Given the description of an element on the screen output the (x, y) to click on. 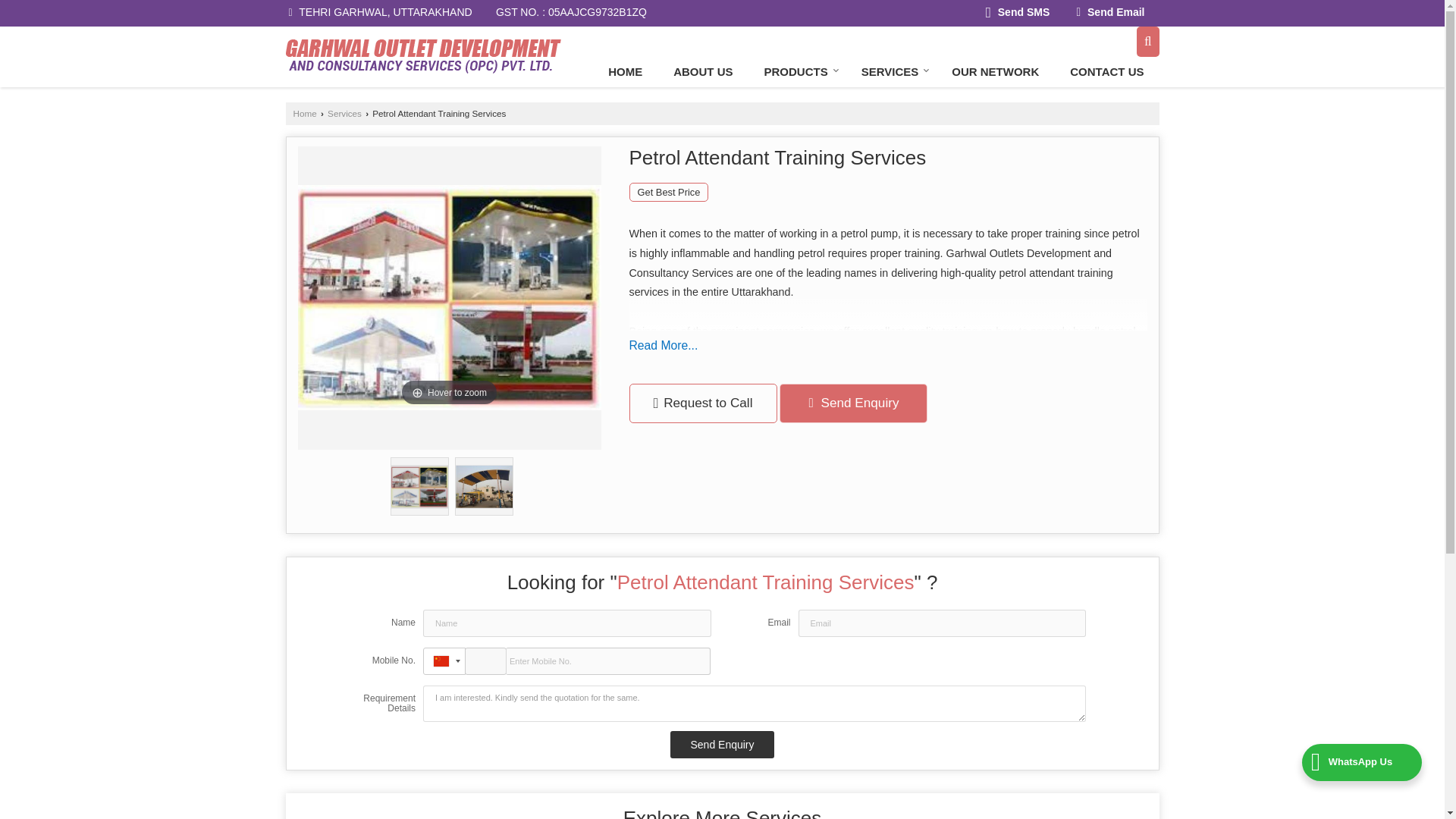
HOME (625, 71)
Send Enquiry (721, 744)
ABOUT US (703, 71)
Home (625, 71)
Send Email (1110, 13)
Products (797, 71)
PRODUCTS (797, 71)
Send SMS (1017, 13)
Garhwal Outlets Development and Consultancy Service (422, 56)
About Us (703, 71)
